Given the description of an element on the screen output the (x, y) to click on. 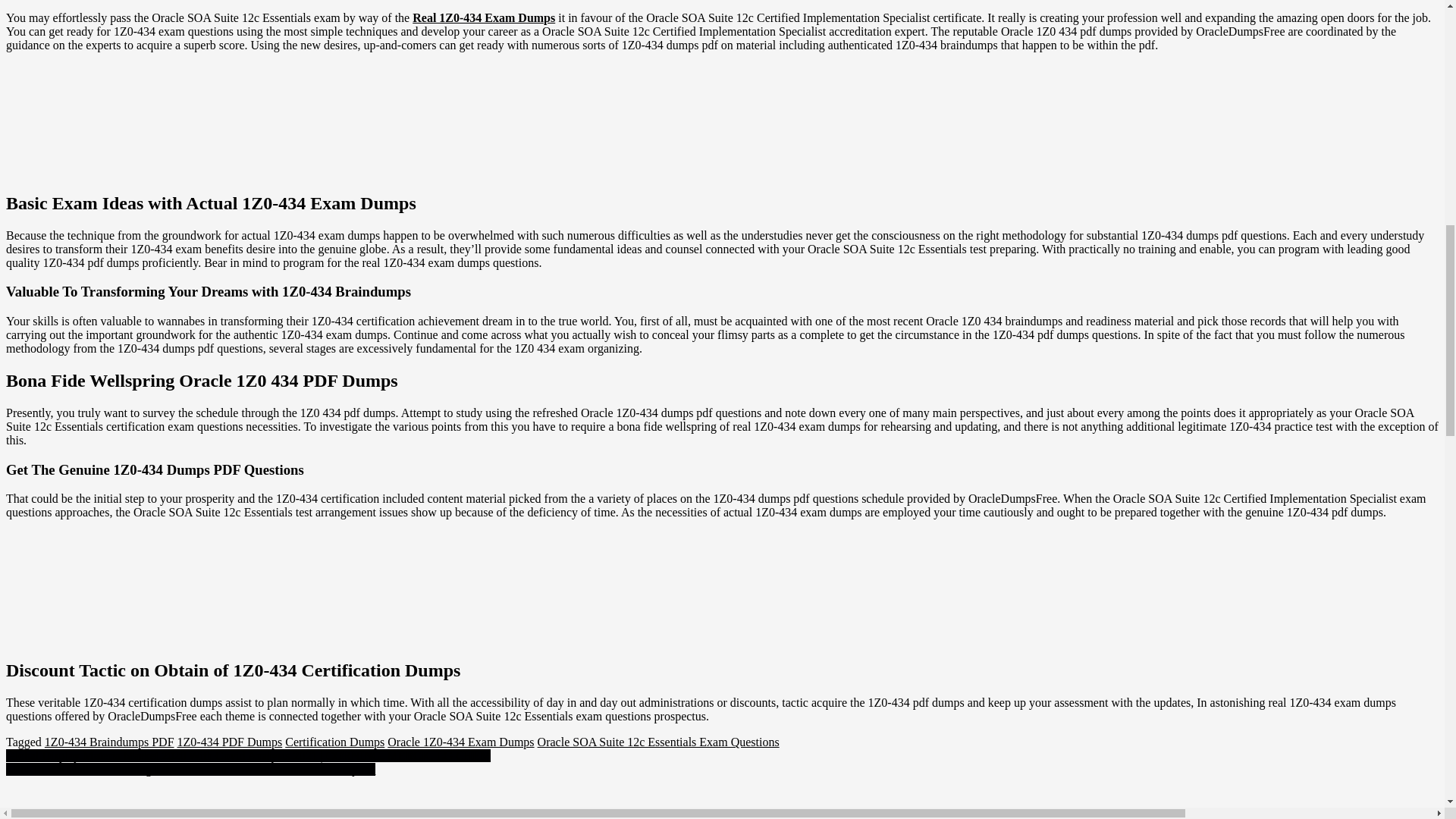
Real 1Z0-434 Exam Dumps (483, 17)
Certification Dumps (334, 741)
1Z0-434 Braindumps PDF (109, 741)
Oracle 1Z0-434 Exam Dumps (460, 741)
Oracle SOA Suite 12c Essentials Exam Questions (657, 741)
1Z0-434 PDF Dumps (229, 741)
